Given the description of an element on the screen output the (x, y) to click on. 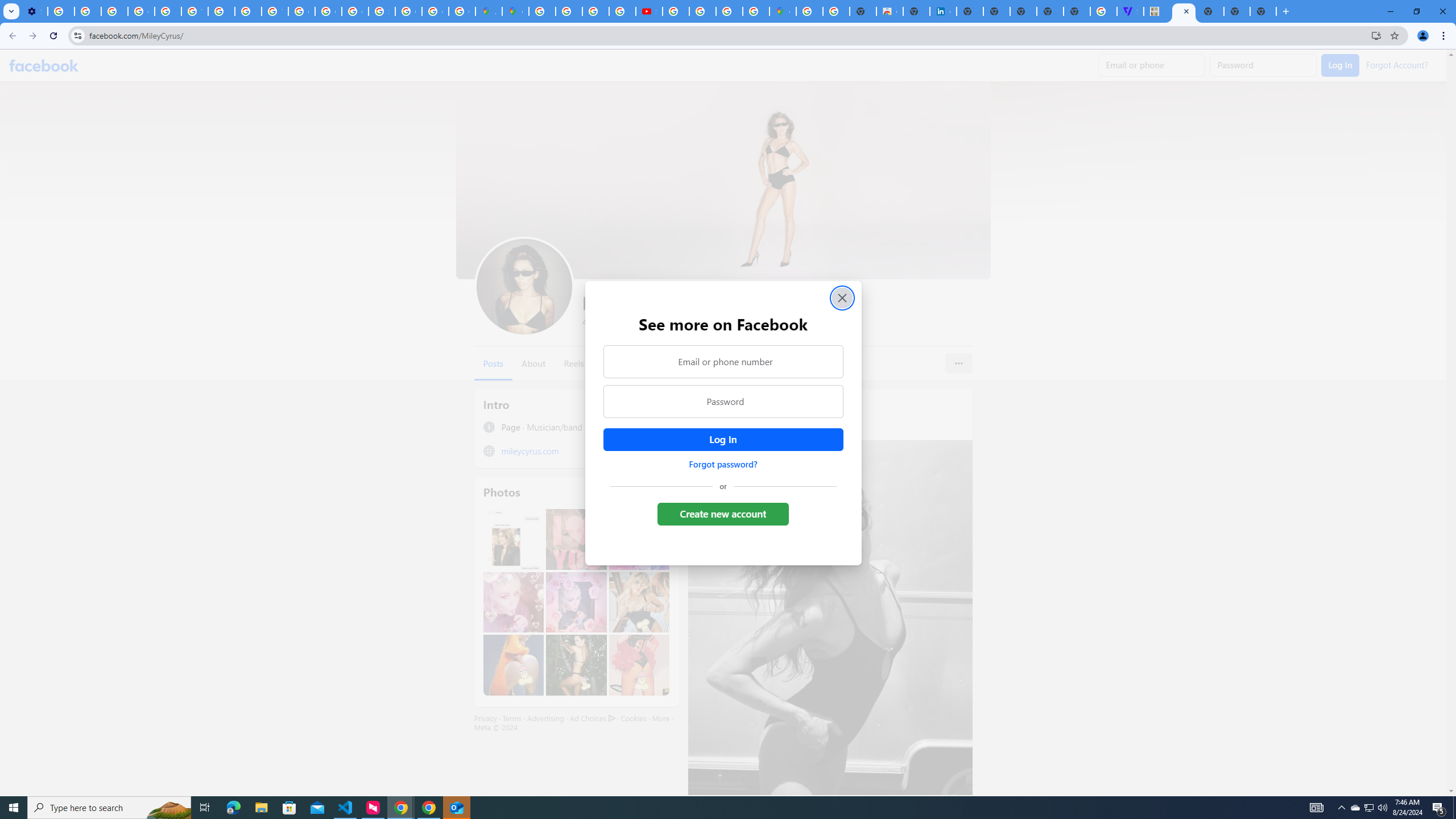
Learn how to find your photos - Google Photos Help (87, 11)
